Given the description of an element on the screen output the (x, y) to click on. 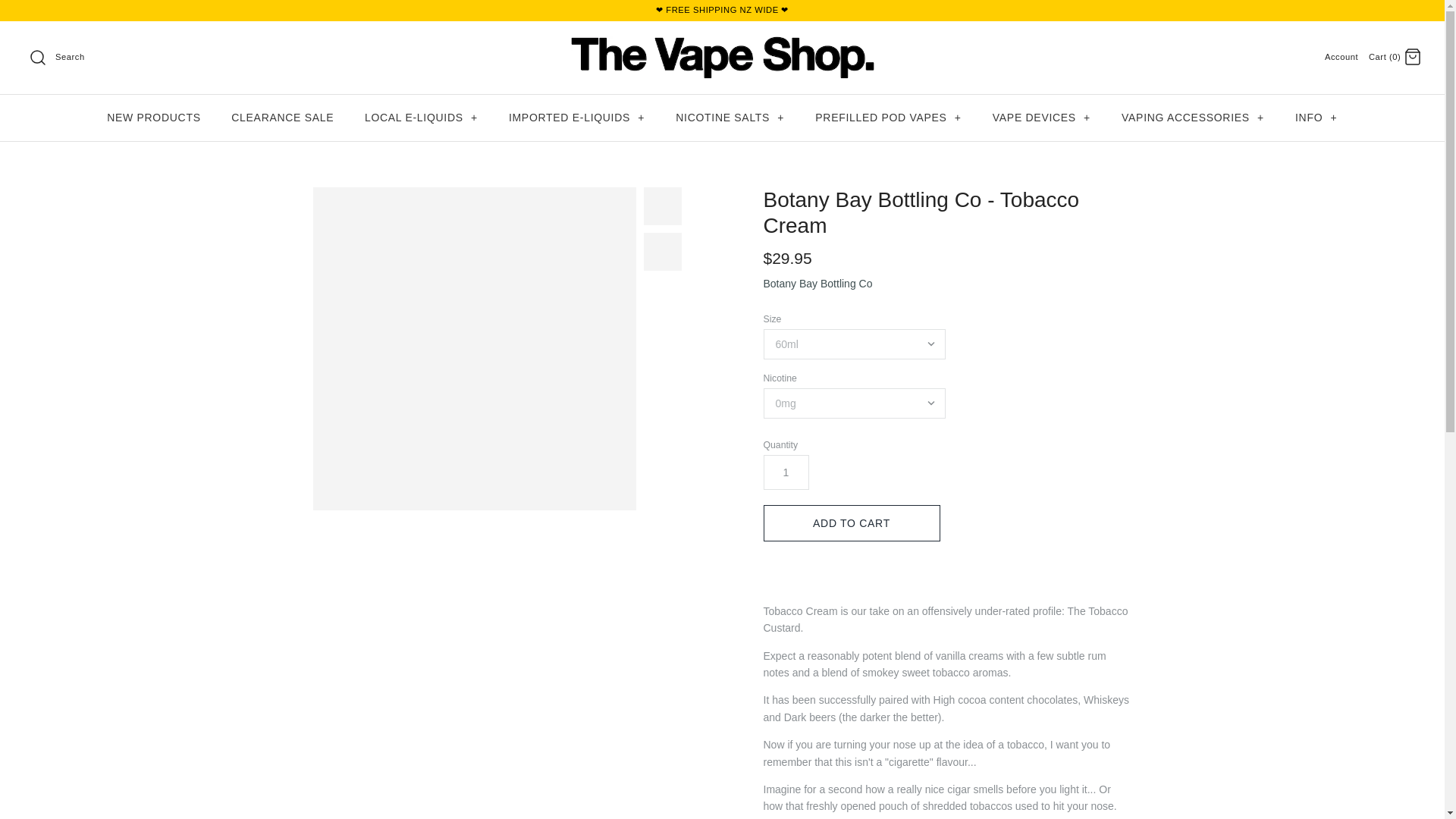
The Vape Shop (721, 44)
1 (785, 472)
NEW PRODUCTS (153, 117)
Cart (1412, 56)
Botany Bay Bottling Co - Tobacco Cream - Vapoureyes (473, 348)
Botany Bay Bottling Co - Tobacco Cream - Vapoureyes (662, 206)
Account (1341, 56)
CLEARANCE SALE (281, 117)
Botany Bay Bottling Co - Robert Lindsay - Vapoureyes (662, 251)
Add to Cart (850, 523)
